Given the description of an element on the screen output the (x, y) to click on. 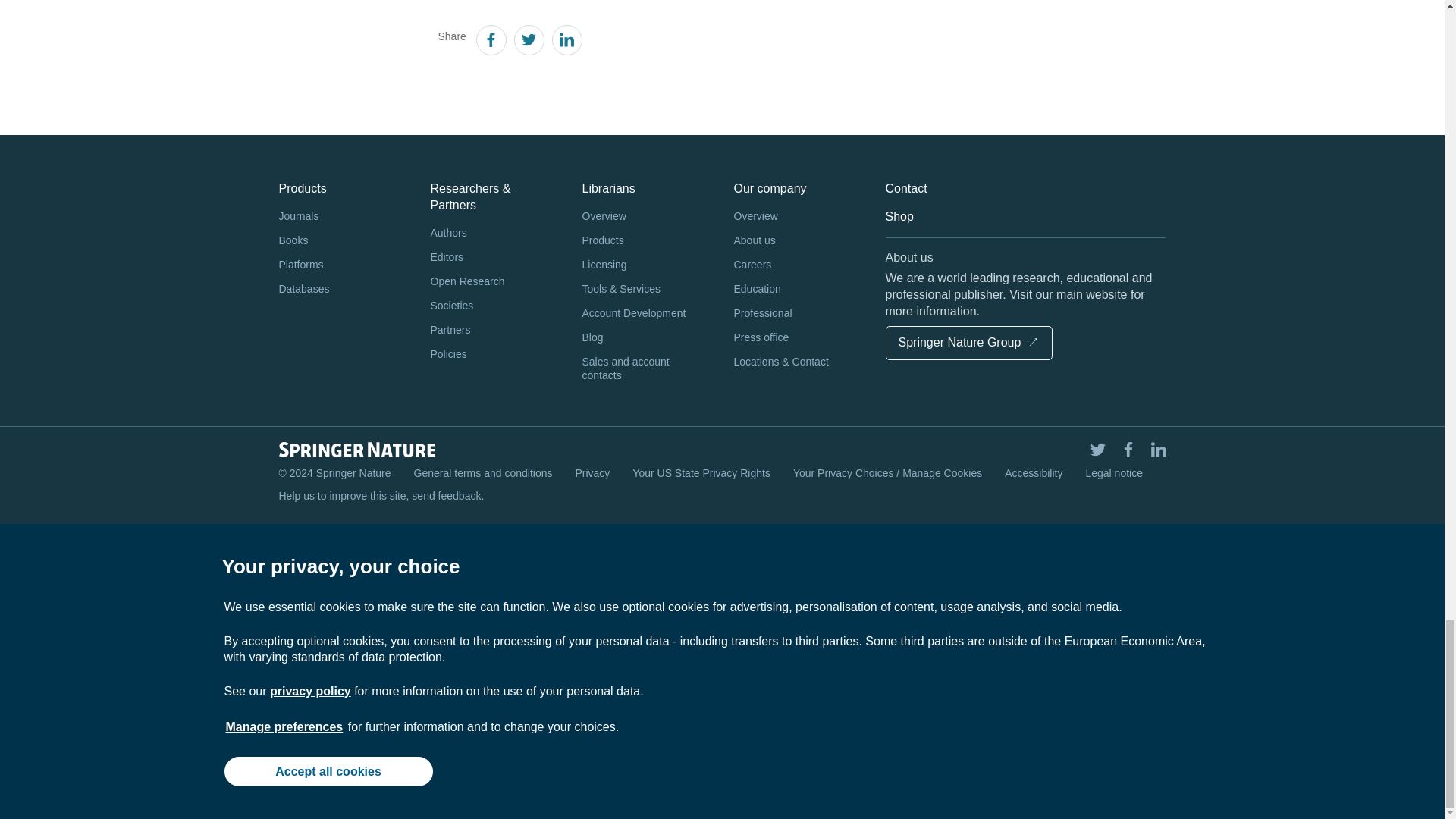
twitter (528, 42)
Open Research (494, 282)
Authors (494, 233)
Platforms (343, 265)
Databases (343, 289)
facebook (490, 42)
linkedin (566, 42)
Books (343, 241)
Editors (494, 257)
Journals (343, 216)
